Given the description of an element on the screen output the (x, y) to click on. 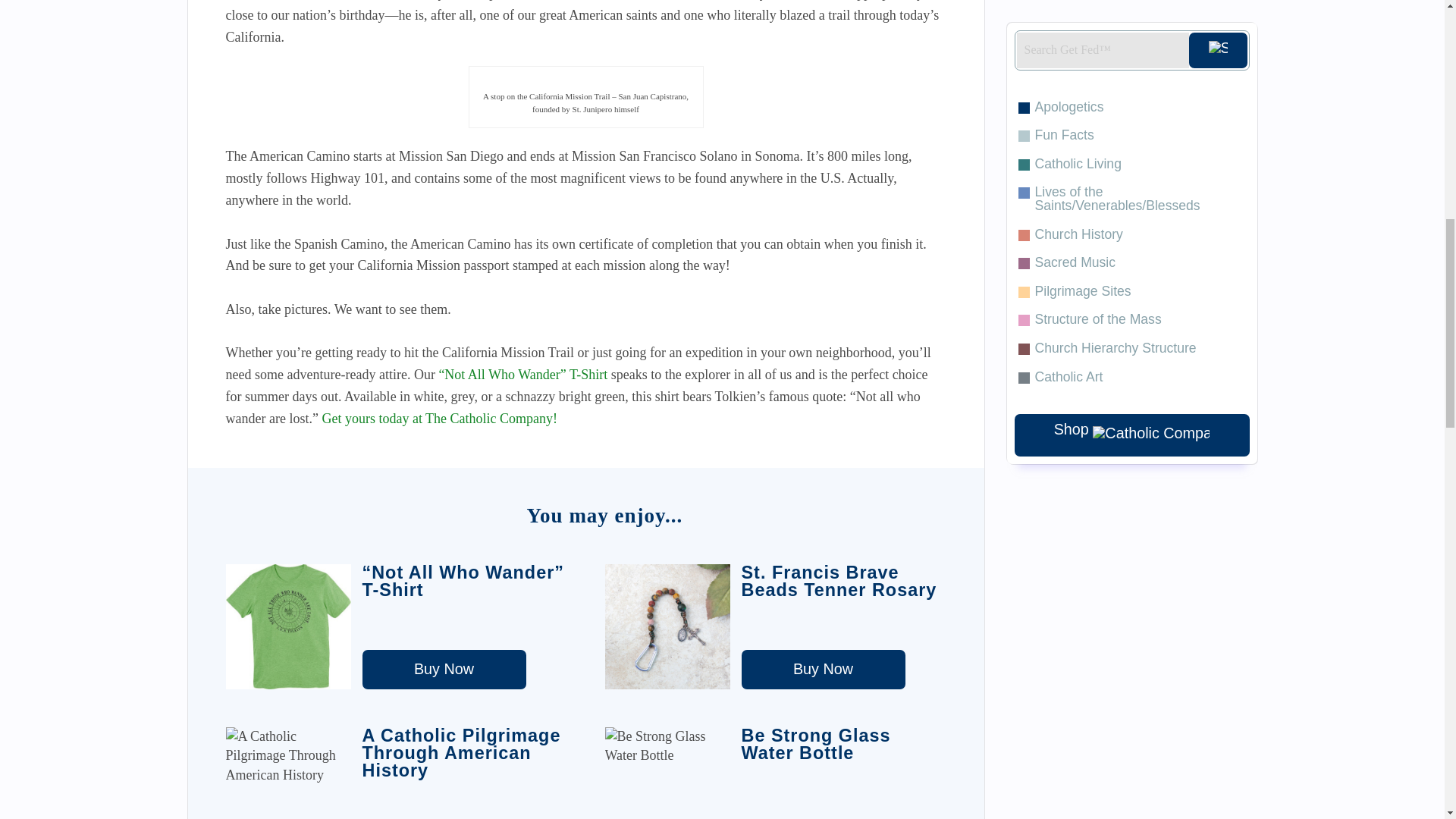
Rating of this product is 5 out of 5. (843, 781)
Rating of this product is 4.7 out of 5. (464, 618)
Rating of this product is 5 out of 5. (464, 799)
Buy Now (823, 669)
Get yours today at The Catholic Company! (439, 418)
St. Francis Brave Beads Tenner Rosary (823, 669)
Buy Now (443, 669)
Rating of this product is 5 out of 5. (843, 618)
